Given the description of an element on the screen output the (x, y) to click on. 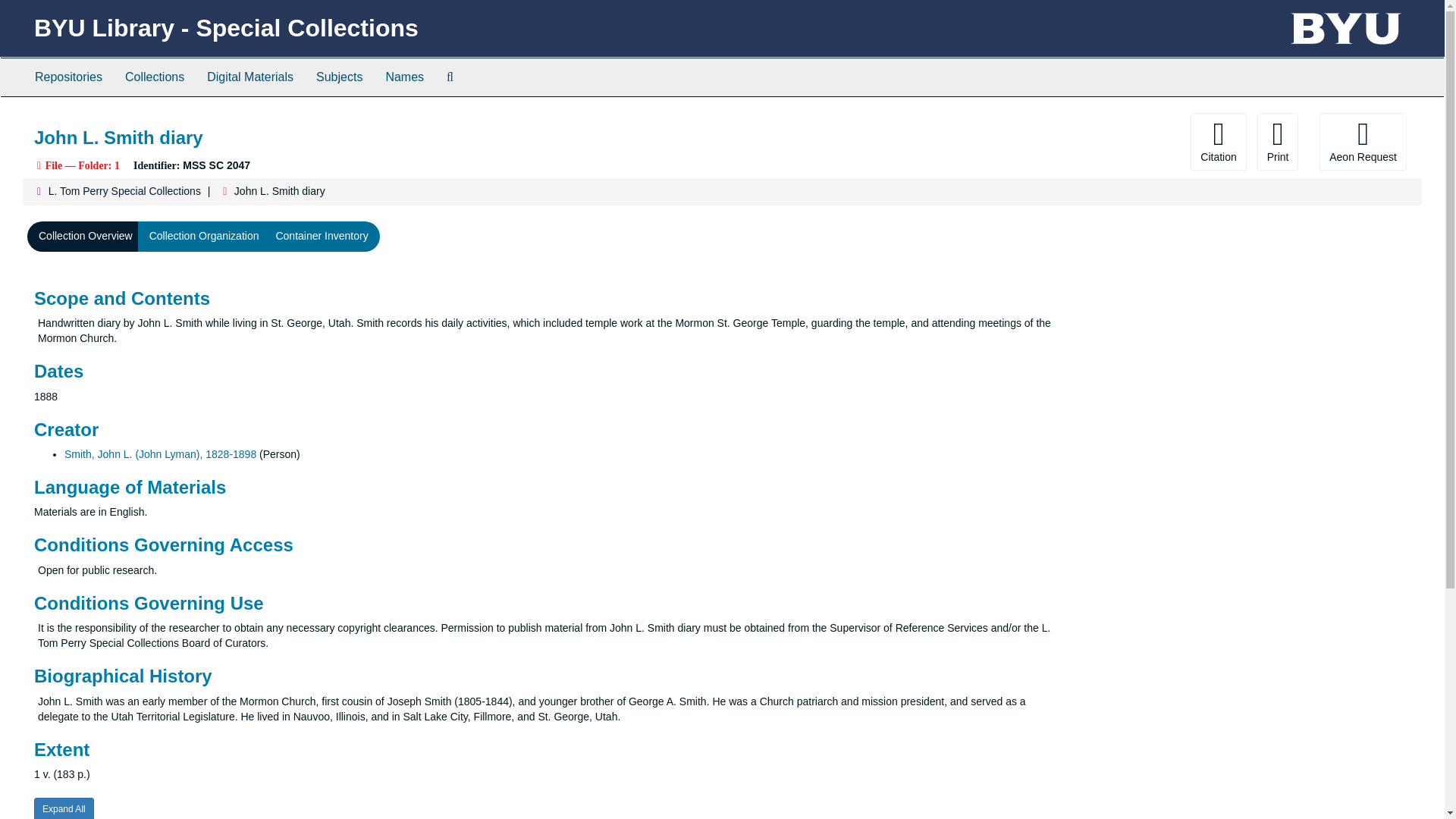
Names (404, 77)
Collection Overview (85, 236)
Aeon Request (1362, 141)
Expand All (63, 808)
Collection Organization (204, 236)
Aeon Request (1362, 141)
Digital Materials (249, 77)
Page Actions (1130, 141)
Citation (1218, 141)
Subjects (339, 77)
